Given the description of an element on the screen output the (x, y) to click on. 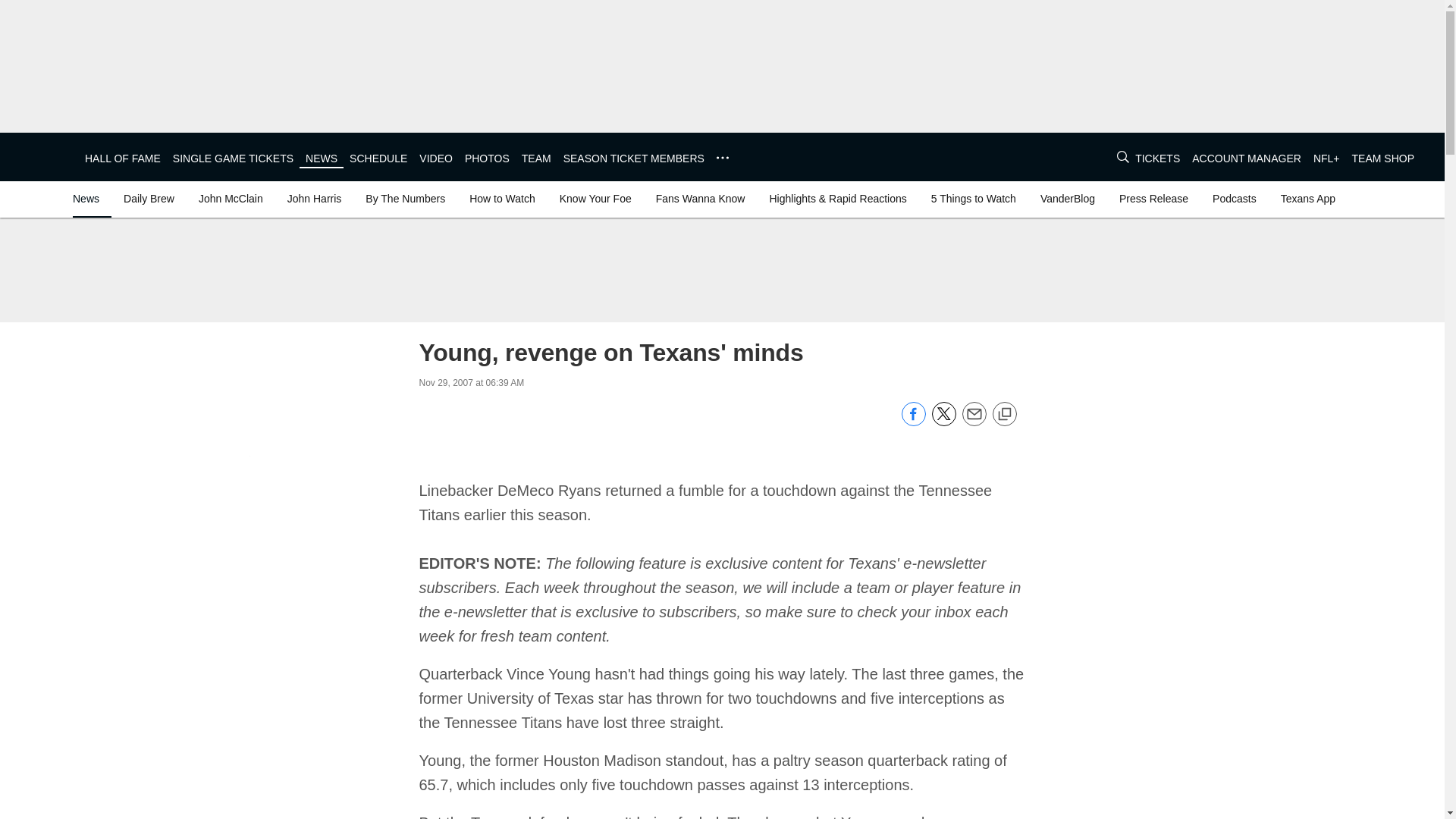
TEAM (536, 158)
ACCOUNT MANAGER (1246, 158)
Press Release (1153, 198)
Know Your Foe (595, 198)
5 Things to Watch (973, 198)
TEAM (536, 158)
TICKETS (1157, 158)
Link to club's homepage (42, 156)
PHOTOS (486, 158)
NEWS (321, 158)
SINGLE GAME TICKETS (233, 158)
Daily Brew (148, 198)
TICKETS (1157, 158)
VIDEO (435, 158)
John Harris (314, 198)
